Given the description of an element on the screen output the (x, y) to click on. 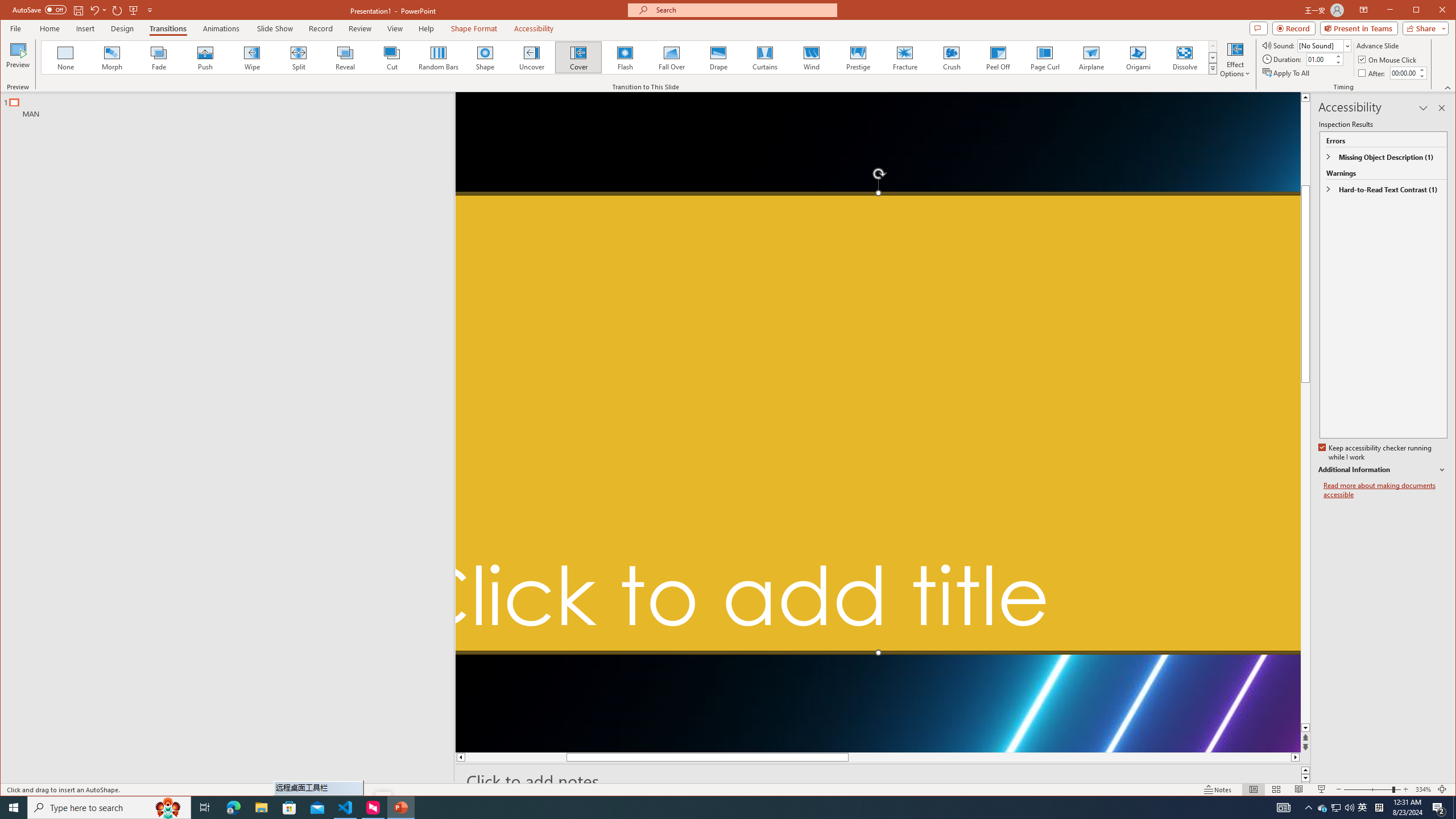
Effect Options (1235, 59)
Sound (1324, 45)
Push (205, 57)
Action Center, 2 new notifications (1439, 807)
Morph (111, 57)
Random Bars (437, 57)
Fall Over (670, 57)
